Given the description of an element on the screen output the (x, y) to click on. 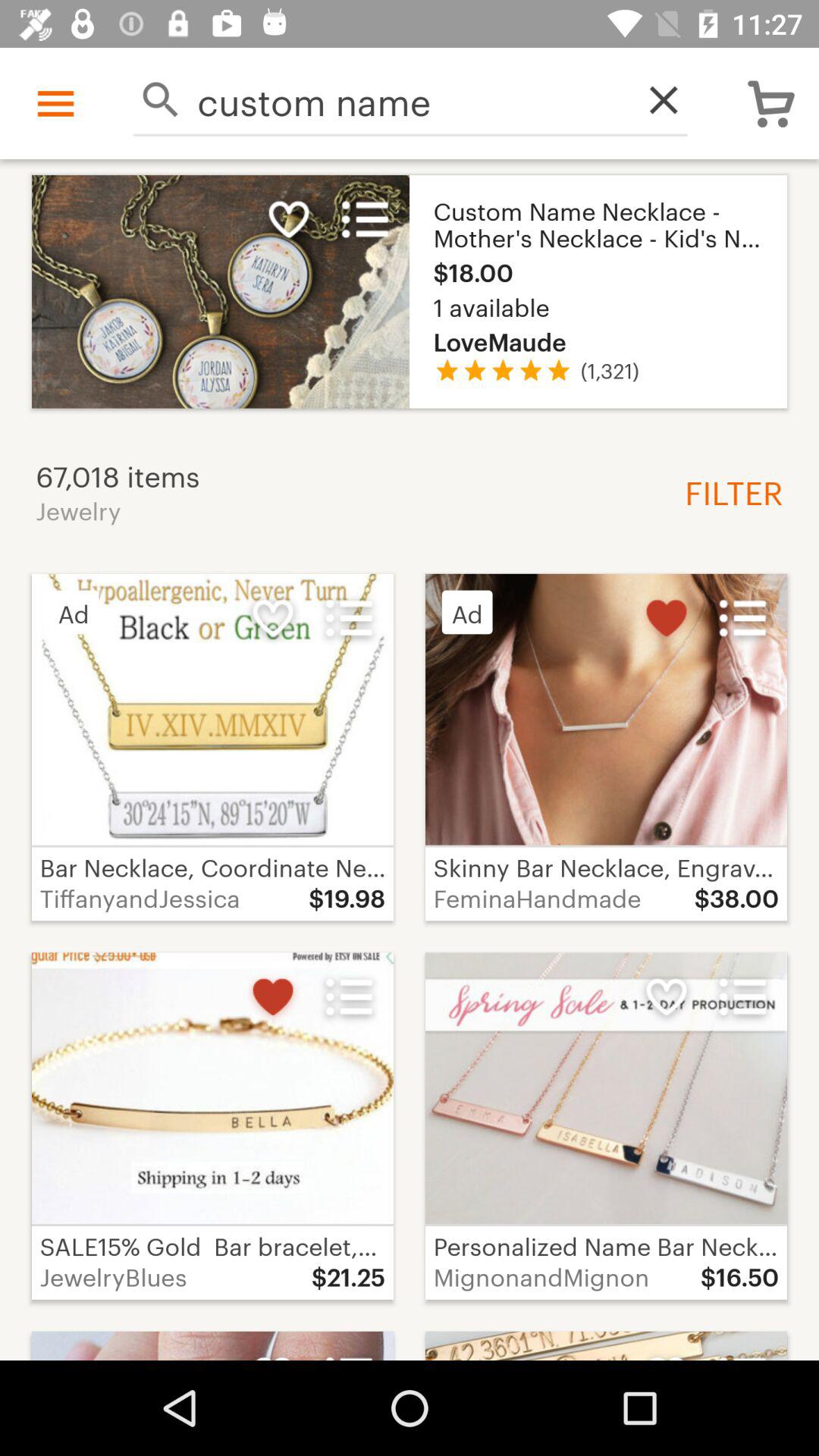
turn on the item below (1,321) item (727, 491)
